Given the description of an element on the screen output the (x, y) to click on. 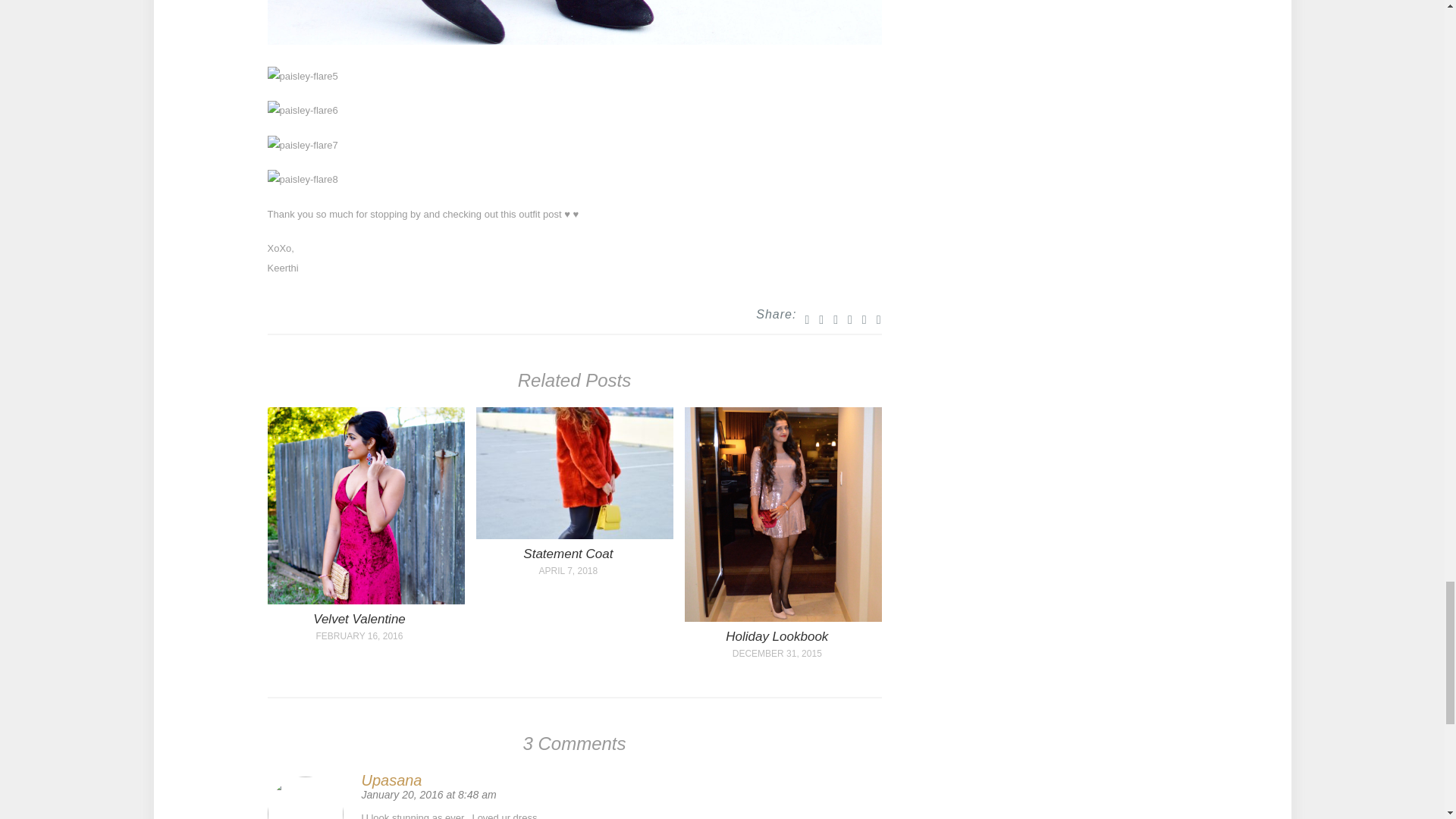
Permanent (574, 535)
Permanent (365, 600)
Statement Coat (567, 554)
Permanent (776, 636)
Permanent (567, 554)
Permanent (359, 618)
Velvet Valentine (359, 618)
APRIL 7, 2018 (568, 570)
FEBRUARY 16, 2016 (358, 635)
Permanent (783, 618)
